Given the description of an element on the screen output the (x, y) to click on. 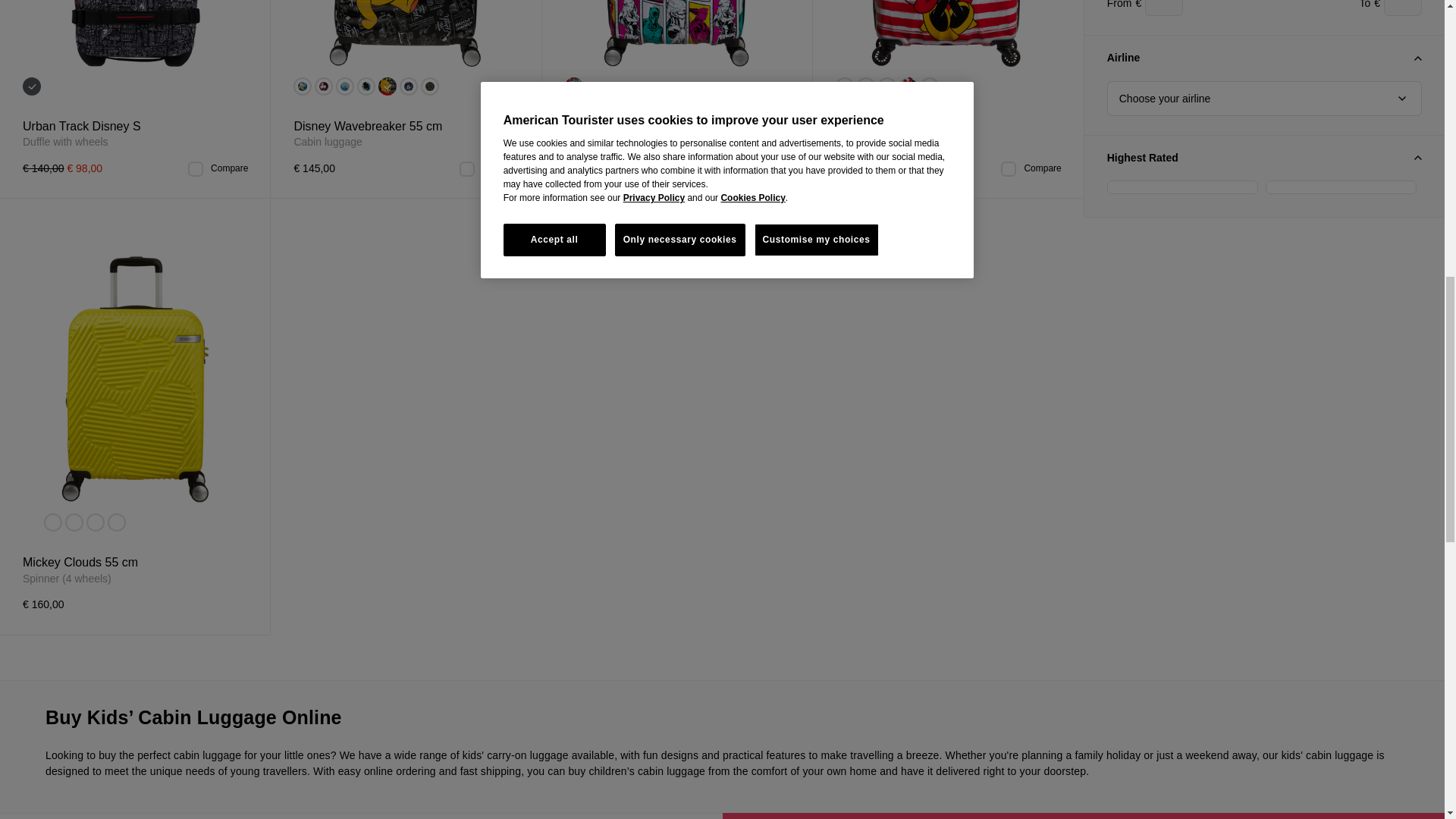
Donald Duck (302, 85)
Avengers Pop Art (573, 85)
Urban Track Disney S Duffle with wheels (135, 33)
Donald Blue Kiss (344, 85)
Disney Wavebreaker 55 cm Cabin luggage (405, 33)
Mickey Future Pop (407, 85)
Disney Legends 55 cm Cabin luggage (947, 33)
Mickey Blue Kiss (365, 85)
Spiderman Sketch (31, 85)
Donald Duck Camo (429, 85)
Mickey Comics Red (323, 85)
Winnie The Pooh (387, 85)
